Given the description of an element on the screen output the (x, y) to click on. 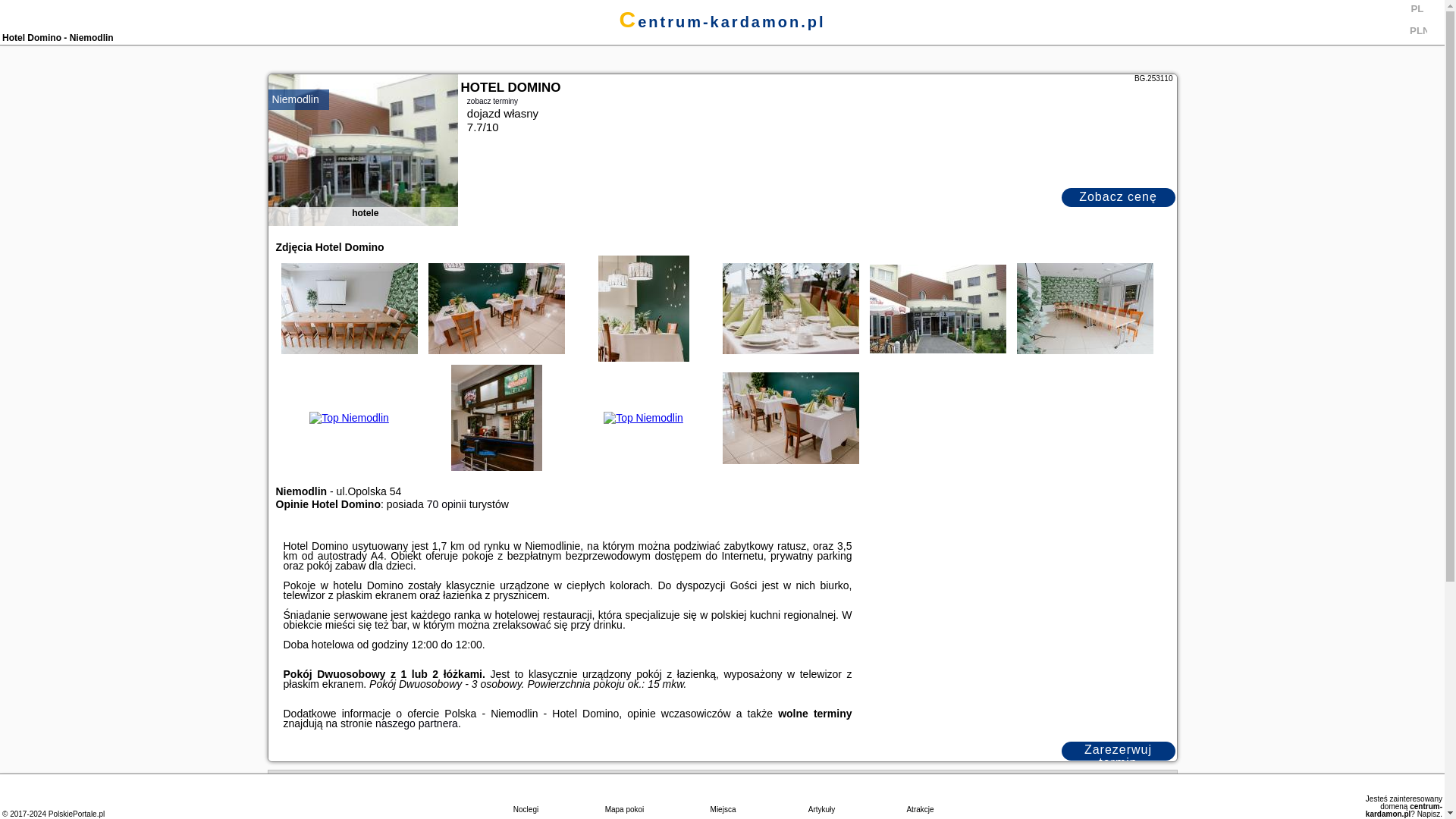
zobacz terminy (817, 100)
Top Niemodlin (790, 307)
Miejsca (722, 797)
70 opinii (445, 503)
Top Niemodlin (1084, 307)
zobacz terminy (492, 99)
naszego partnera (416, 723)
Urlop Wczasy Hotel Domino Polska (938, 308)
Urlop Wczasy Hotel Domino Polska (497, 308)
PolskiePortale.pl (76, 813)
Urlop Wczasy Hotel Domino Polska (791, 308)
Top Niemodlin (496, 307)
centrum-kardamon.pl (721, 21)
Napisz (1428, 813)
Noclegi (525, 797)
